Given the description of an element on the screen output the (x, y) to click on. 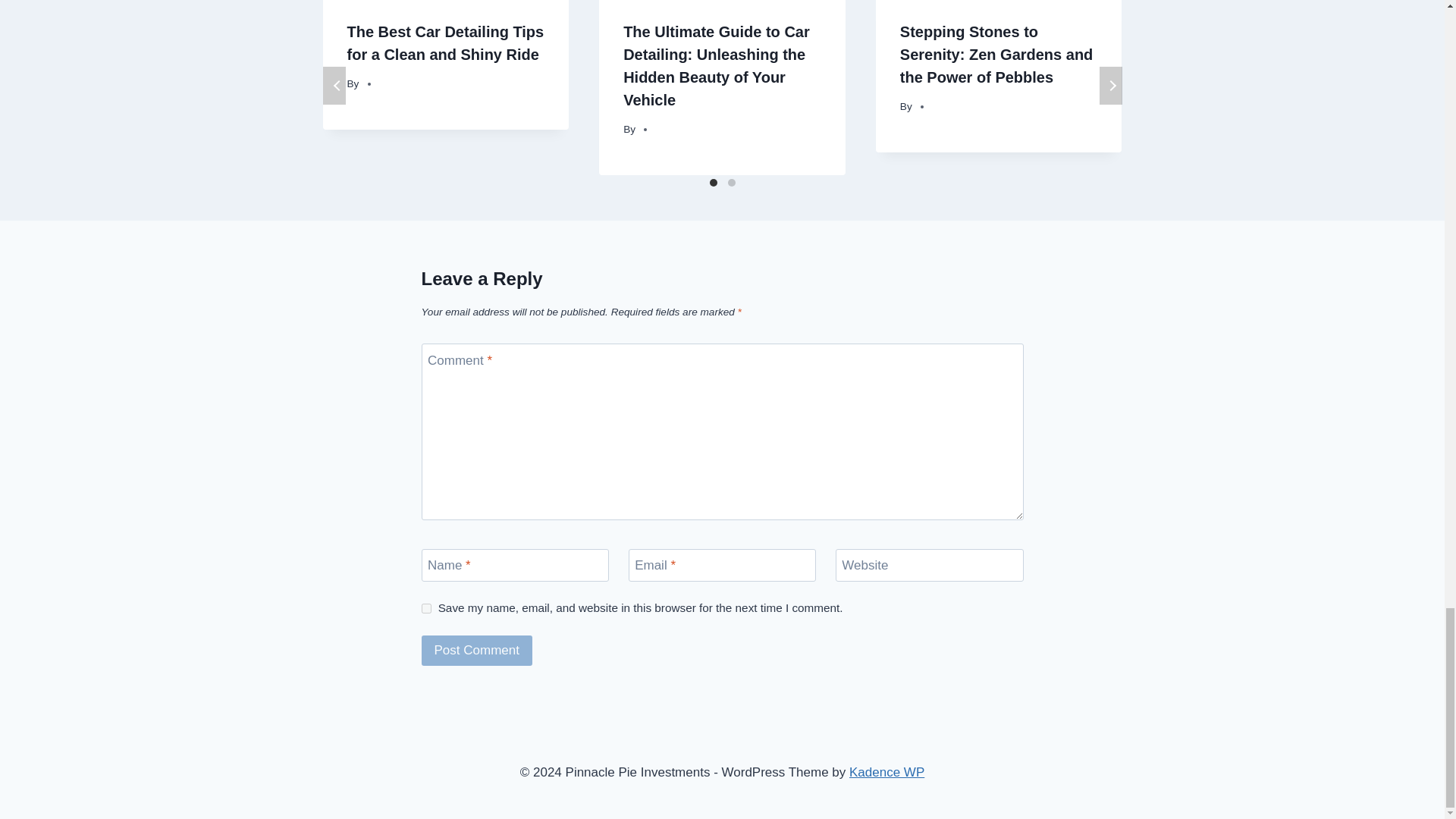
Post Comment (477, 650)
The Best Car Detailing Tips for a Clean and Shiny Ride (445, 43)
yes (426, 608)
